Given the description of an element on the screen output the (x, y) to click on. 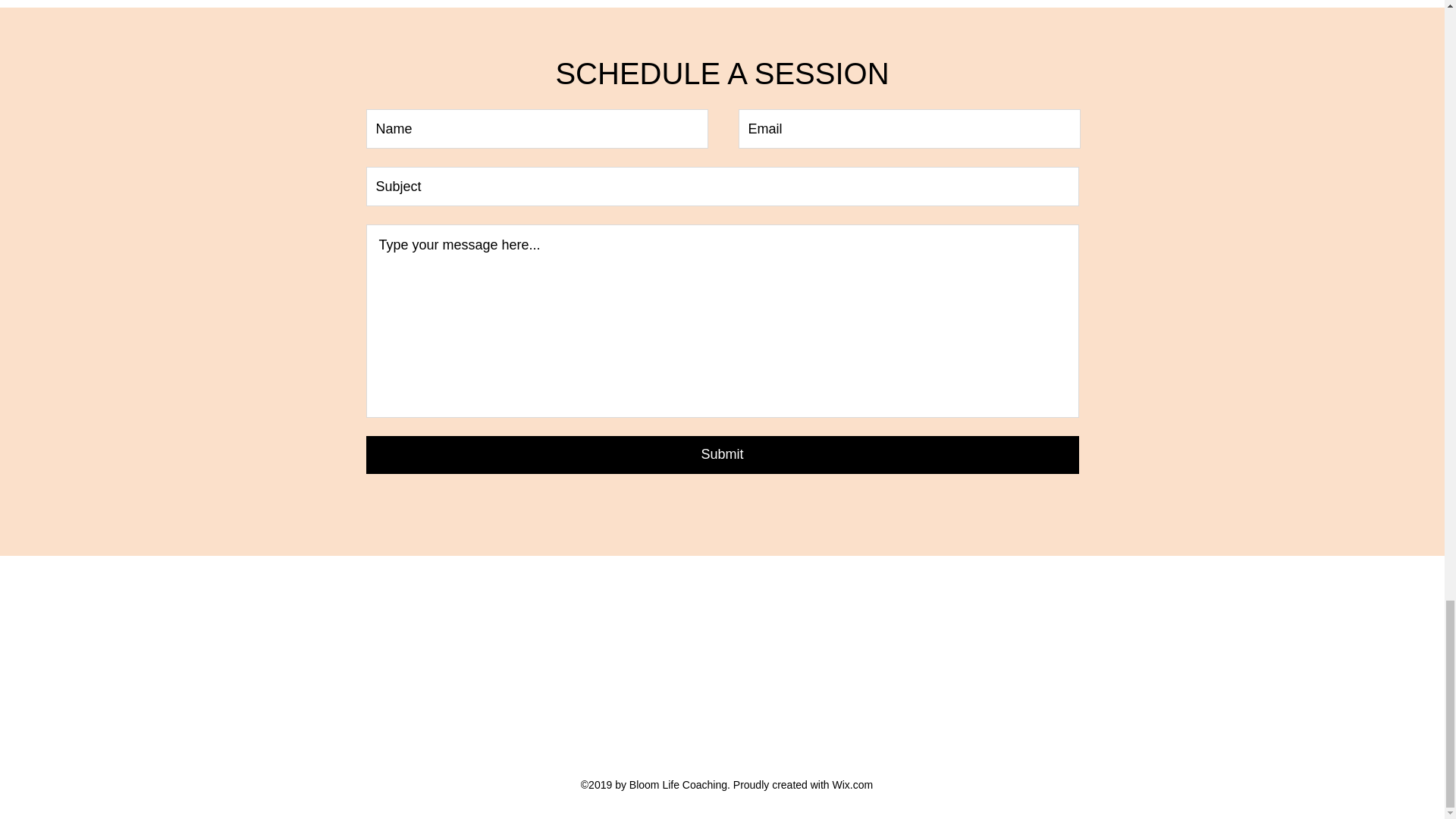
Submit (721, 454)
